Given the description of an element on the screen output the (x, y) to click on. 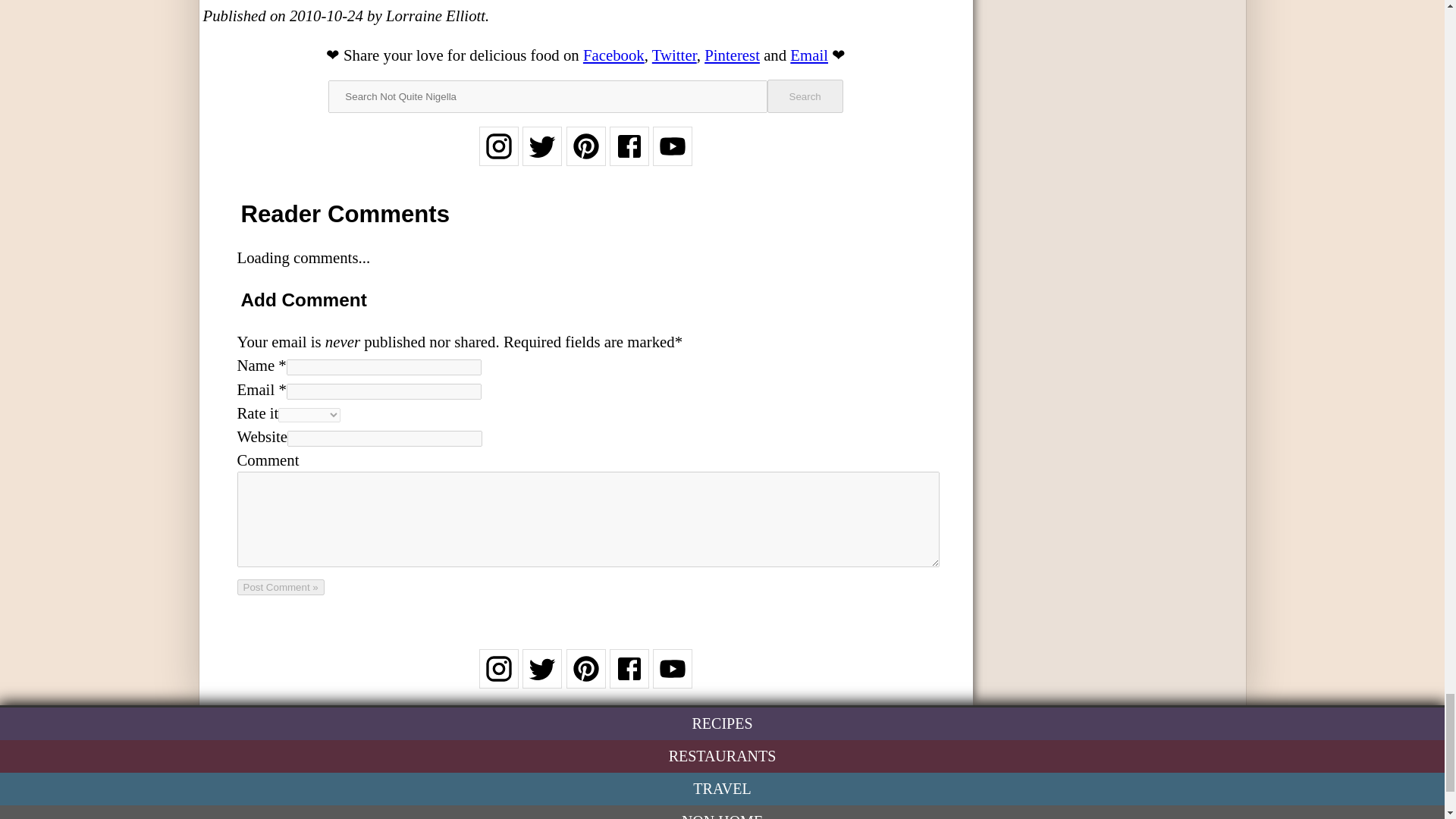
Twitter (674, 54)
Search (805, 96)
Email (809, 54)
Facebook (614, 54)
Follow on Instagram (498, 678)
Search (805, 96)
Follow on Facebook (629, 155)
Follow on Facebook (629, 678)
Tweet (674, 54)
delicious food (513, 54)
